Given the description of an element on the screen output the (x, y) to click on. 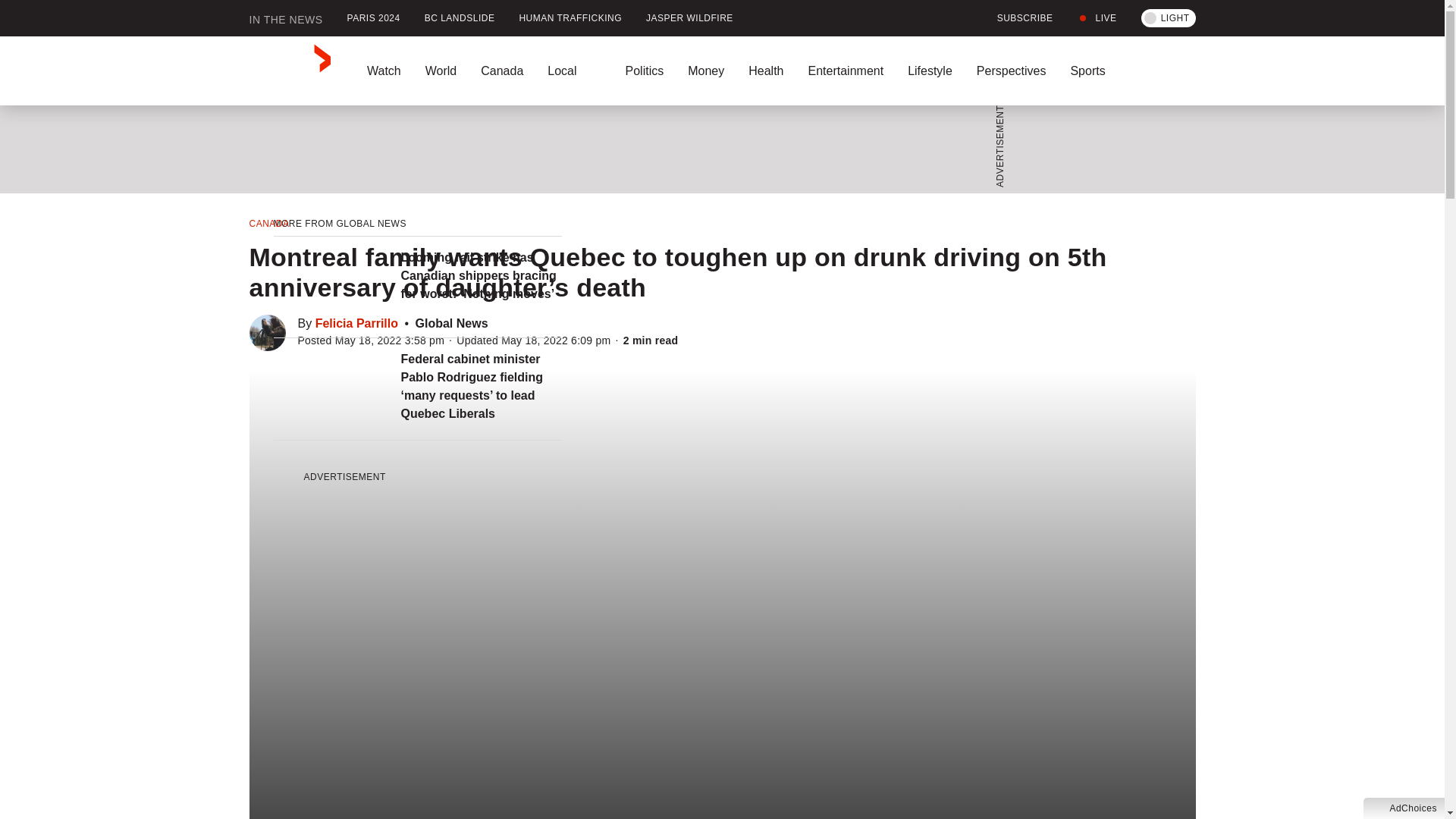
SUBSCRIBE (1015, 18)
JASPER WILDFIRE (689, 18)
Lifestyle (929, 70)
Posts by Felicia Parrillo (356, 323)
Politics (643, 70)
Local (573, 70)
GlobalNews home (289, 70)
BC LANDSLIDE (459, 18)
LIVE (1096, 18)
HUMAN TRAFFICKING (569, 18)
Entertainment (844, 70)
PARIS 2024 (373, 18)
Perspectives (1010, 70)
Canada (501, 70)
